Given the description of an element on the screen output the (x, y) to click on. 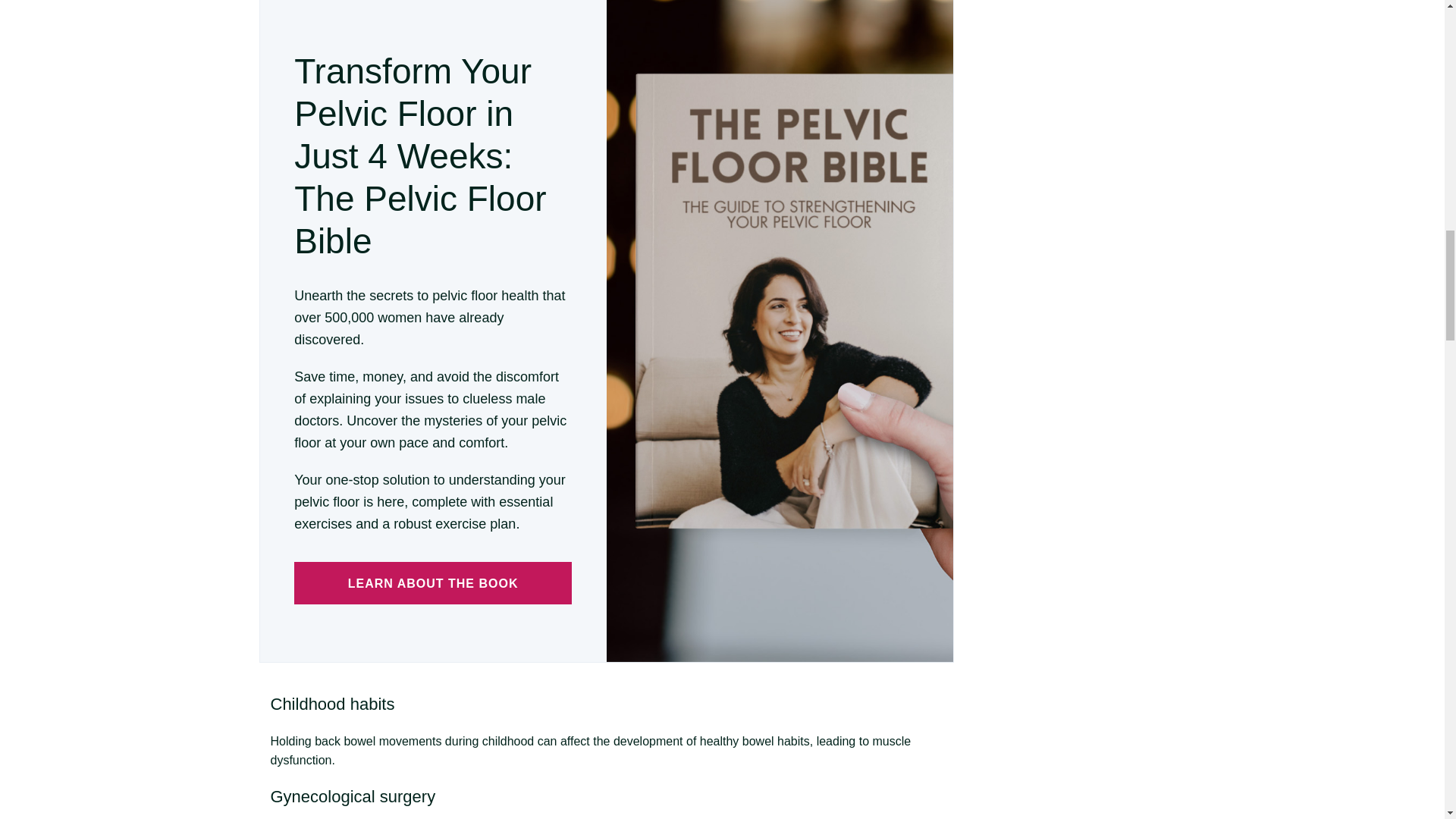
LEARN ABOUT THE BOOK (433, 582)
